Given the description of an element on the screen output the (x, y) to click on. 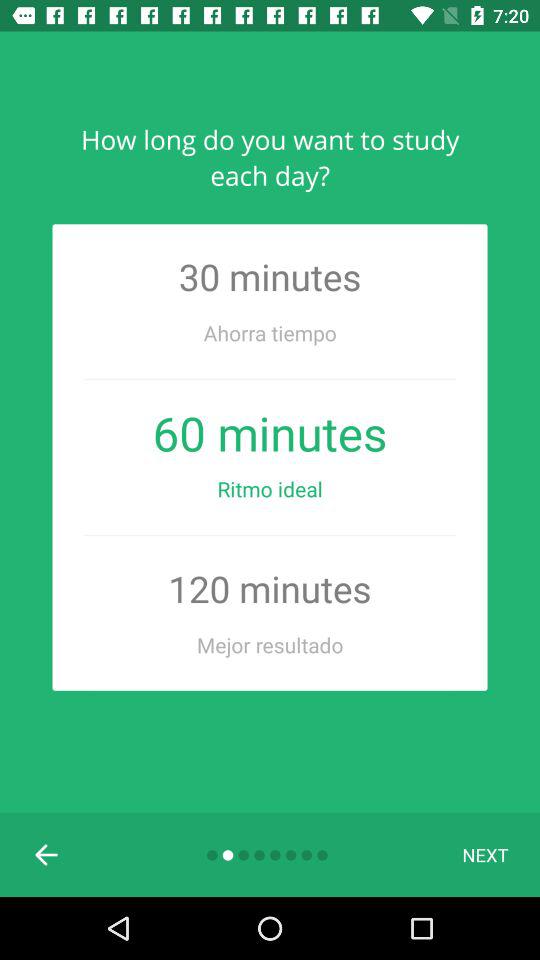
tap the item next to next icon (47, 854)
